Given the description of an element on the screen output the (x, y) to click on. 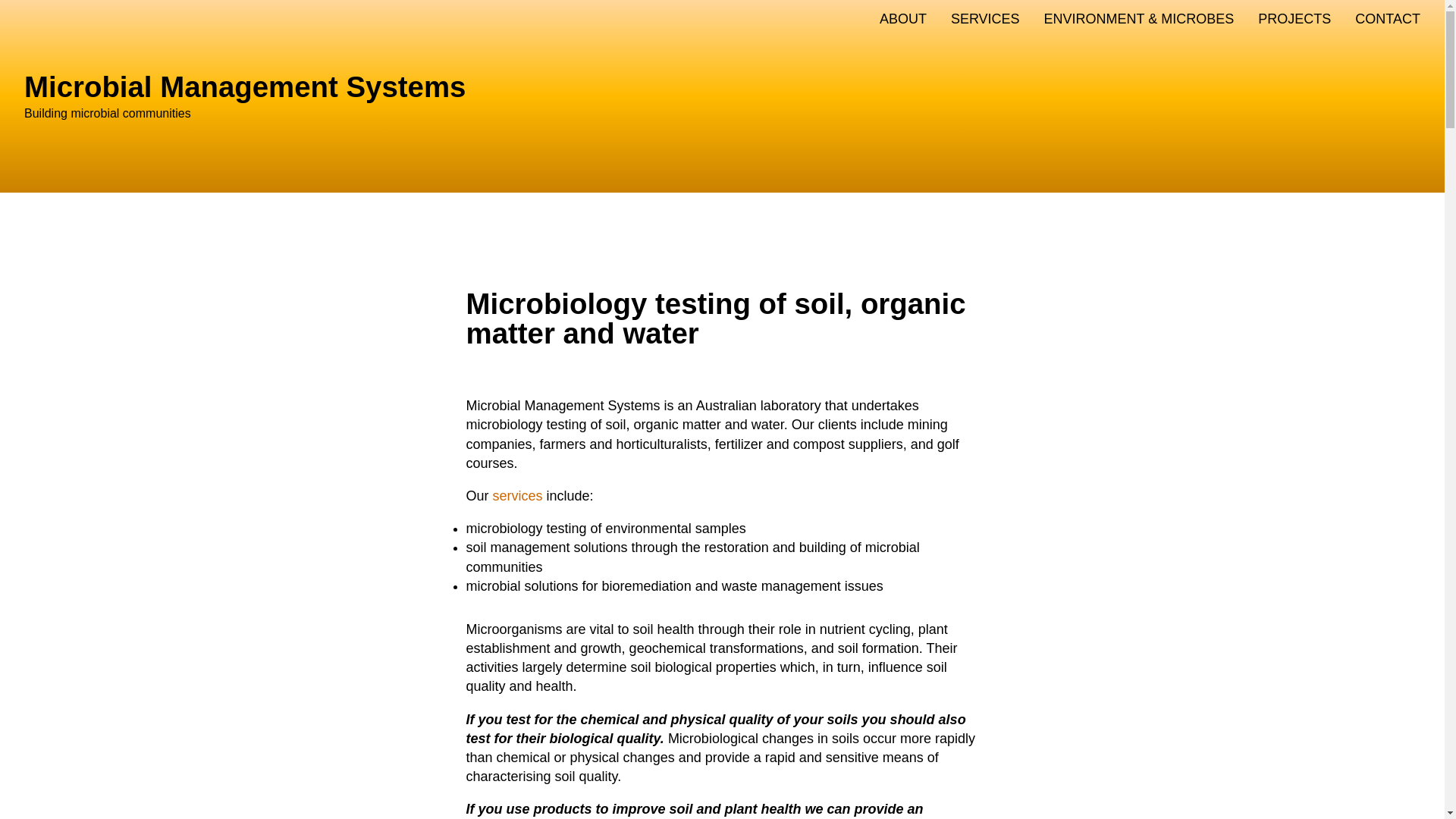
CONTACT Element type: text (1387, 19)
SERVICES Element type: text (984, 19)
PROJECTS Element type: text (1294, 19)
ABOUT Element type: text (902, 19)
services Element type: text (517, 495)
ENVIRONMENT & MICROBES Element type: text (1139, 19)
